Given the description of an element on the screen output the (x, y) to click on. 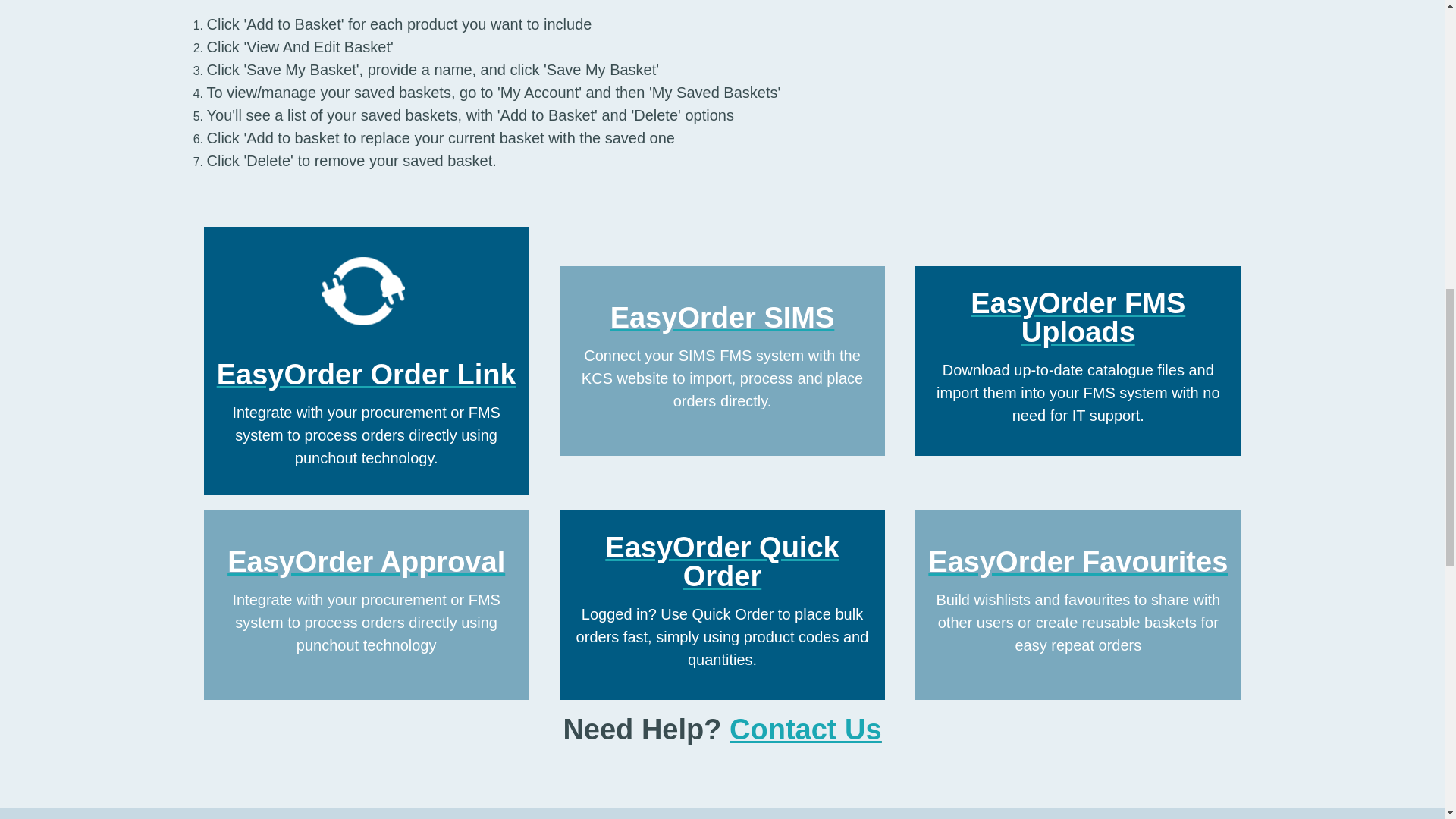
EasyOrder Approval (366, 562)
EasyOrder Order Link (366, 374)
EasyOrder FMS Uploads (1078, 317)
EasyOrder SIMS (722, 317)
